Given the description of an element on the screen output the (x, y) to click on. 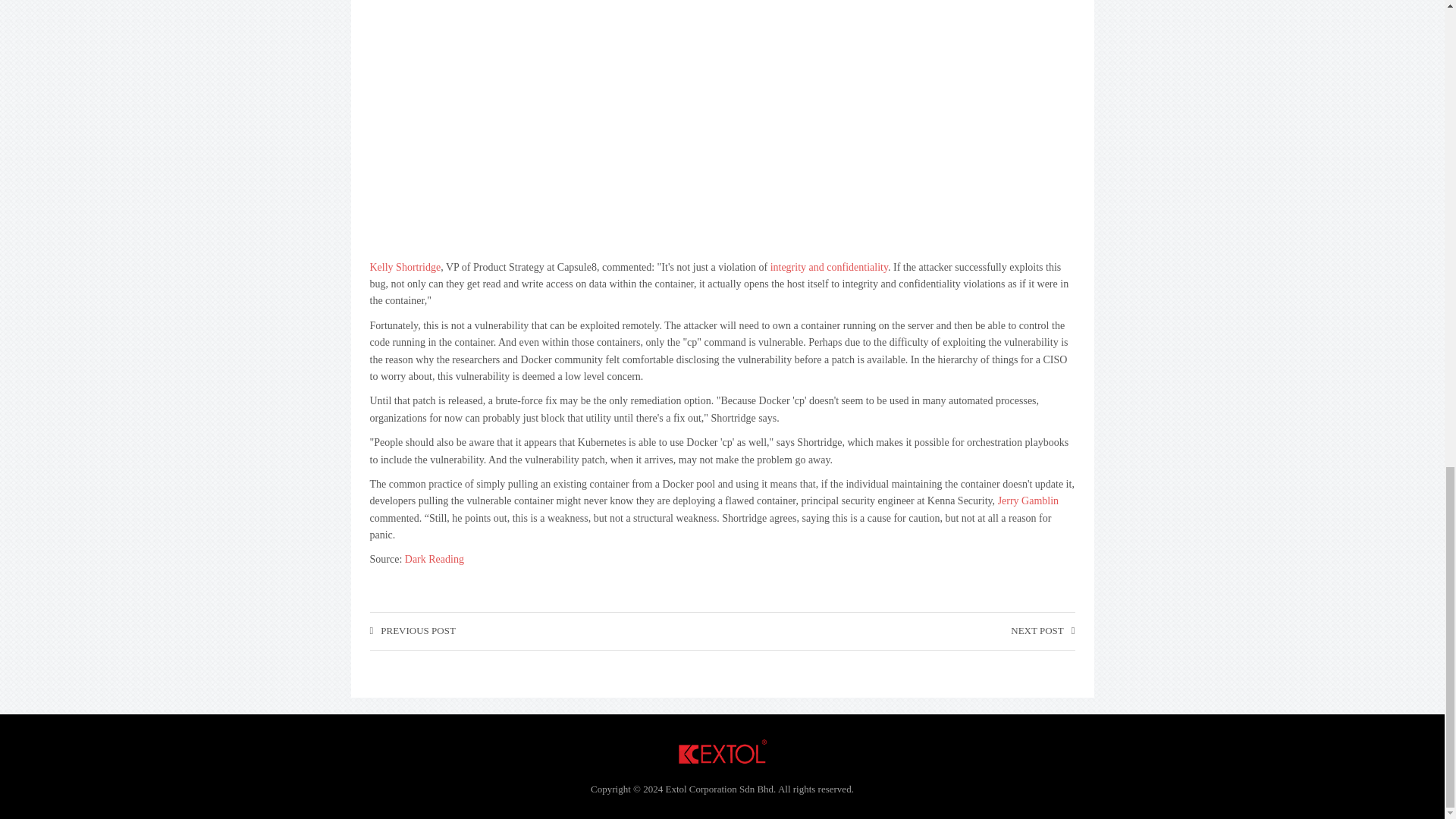
Kelly Shortridge (405, 266)
Dark Reading (434, 559)
NEXT POST (1042, 630)
Jerry Gamblin (1027, 500)
PREVIOUS POST (412, 630)
integrity and confidentiality (829, 266)
